Given the description of an element on the screen output the (x, y) to click on. 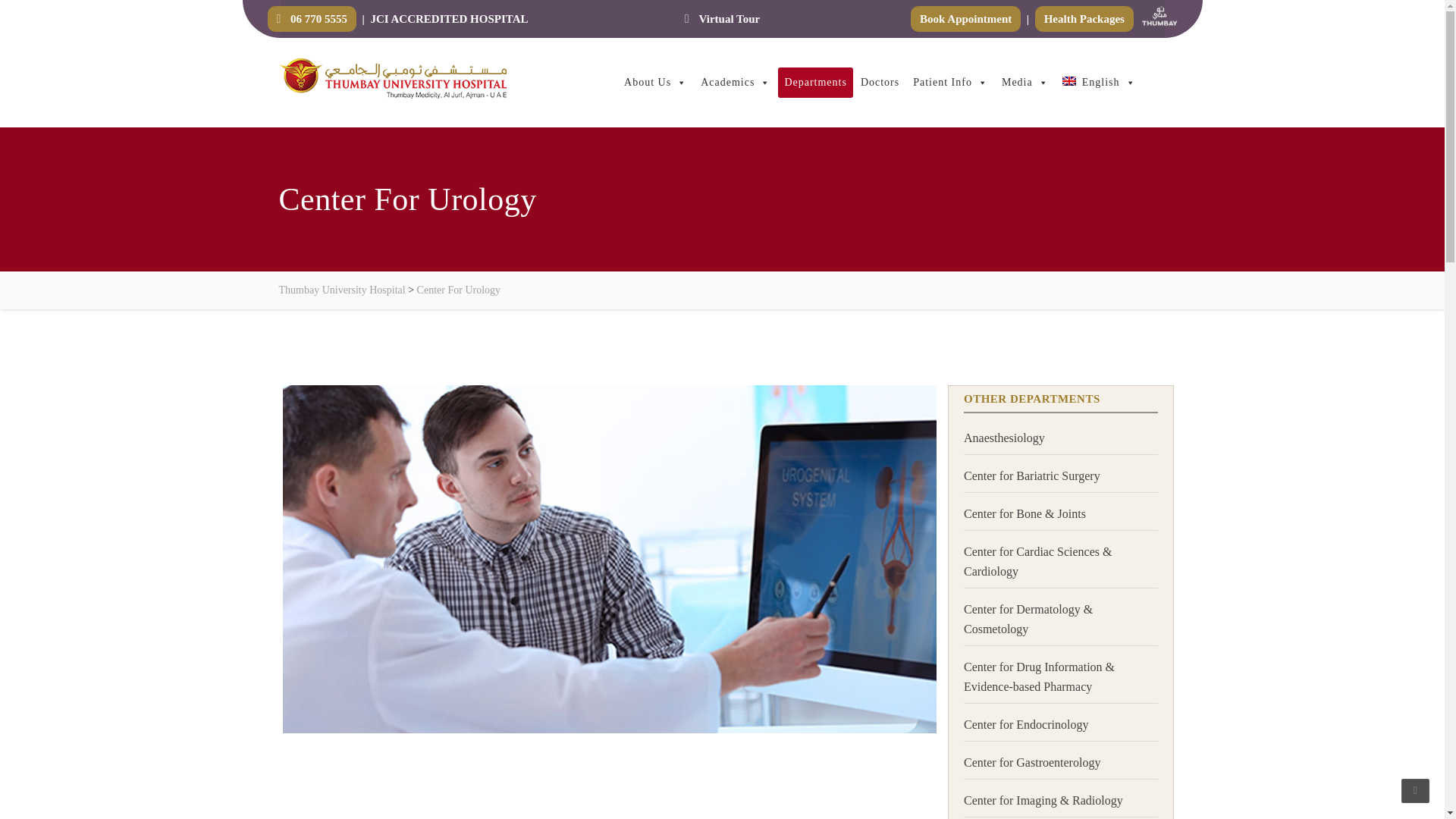
Academics (735, 82)
Book Appointment (965, 18)
06 770 5555 (311, 18)
 Virtual Tour (722, 18)
Health Packages (1084, 18)
Departments (815, 82)
YouTube video player (606, 783)
Go to Thumbay University Hospital. (342, 289)
About Us (655, 82)
JCI ACCREDITED HOSPITAL (448, 18)
English (1099, 82)
